Given the description of an element on the screen output the (x, y) to click on. 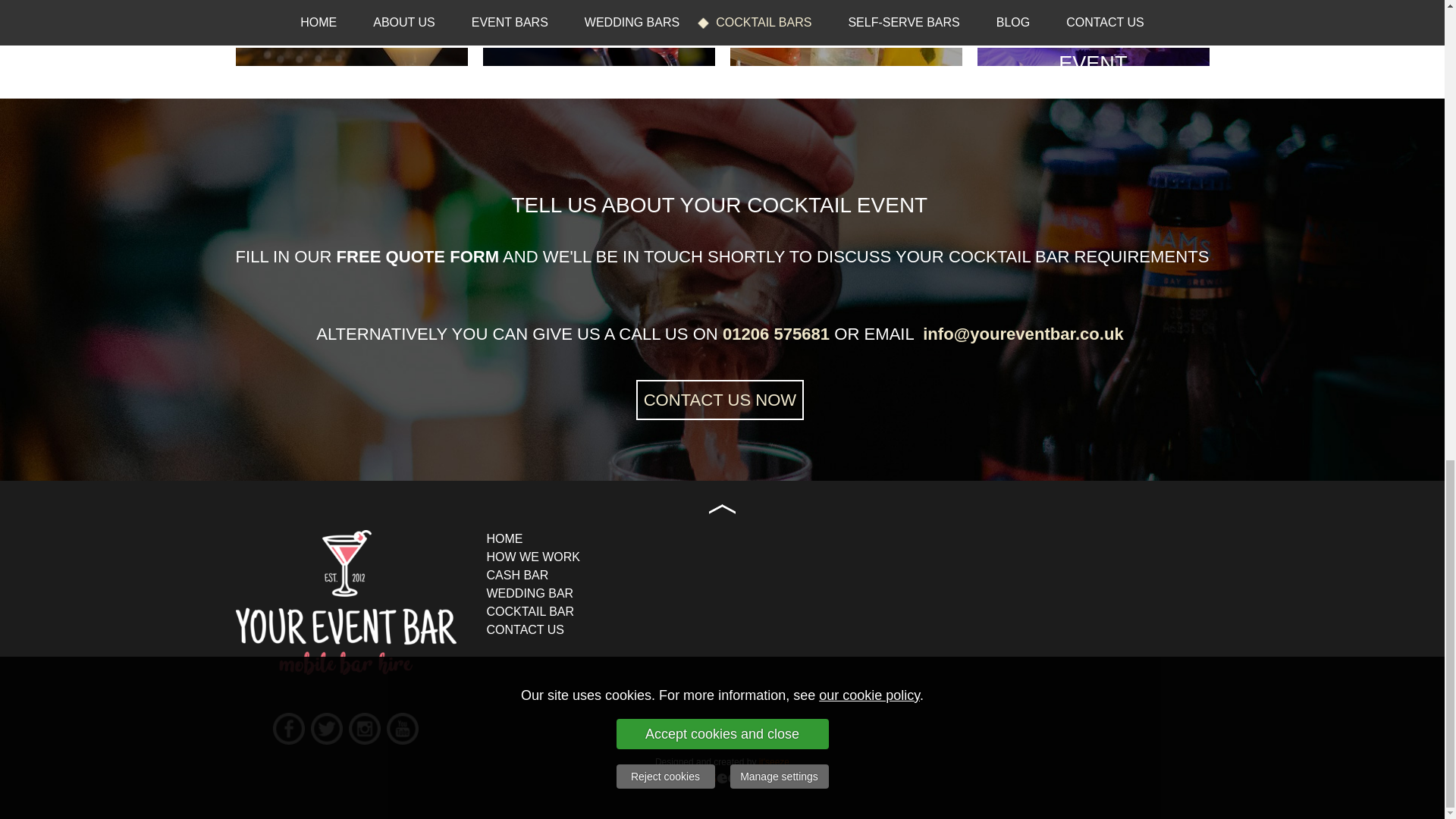
it'seeze (773, 760)
CONTACT US NOW (720, 400)
WEDDING BAR (529, 593)
COCKTAIL BAR (530, 611)
HOME (504, 538)
CASH BAR (517, 574)
CONTACT US (525, 629)
HOW WE WORK (533, 556)
FREE QUOTE FORM (417, 257)
